Given the description of an element on the screen output the (x, y) to click on. 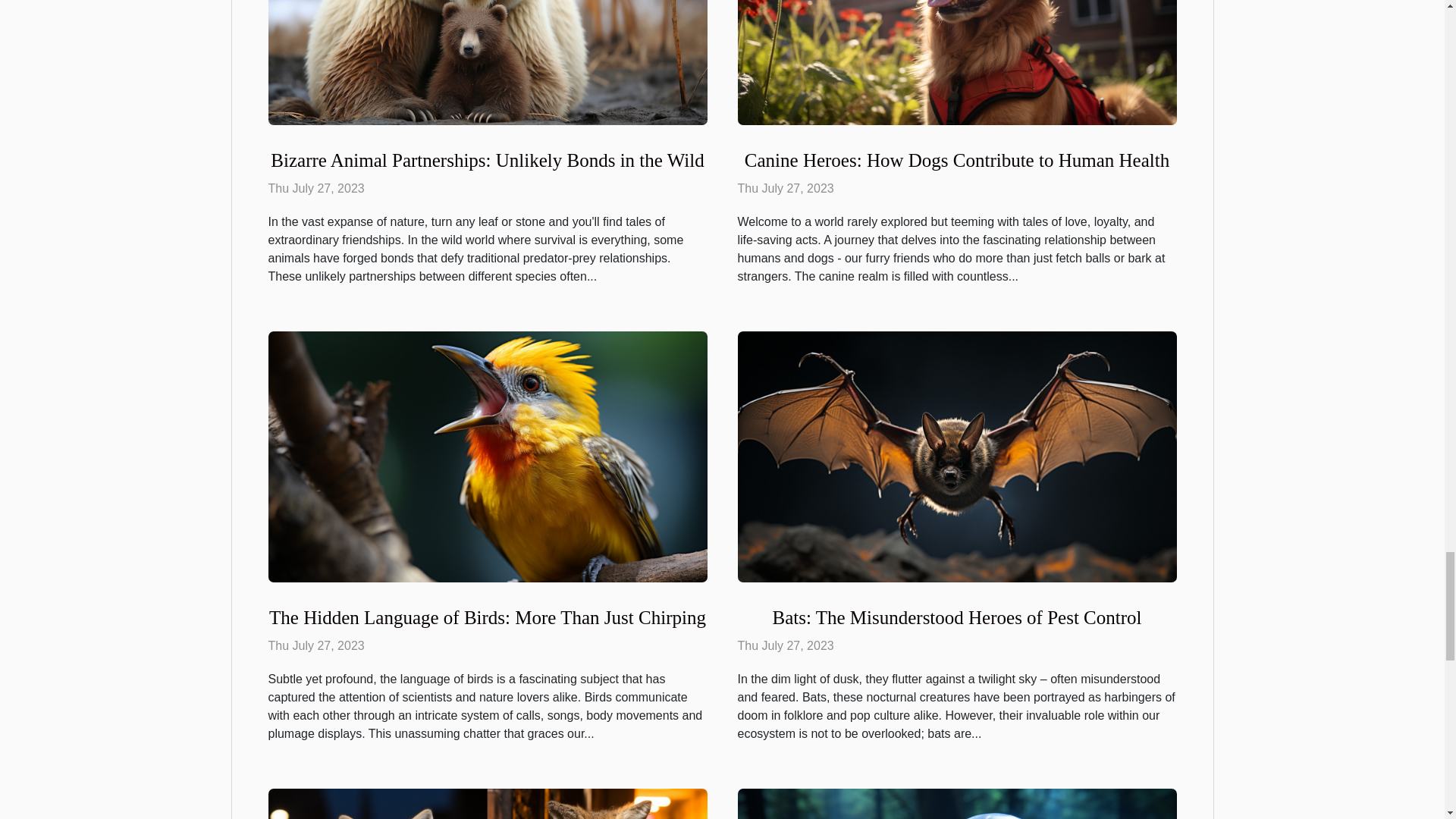
Bizarre Animal Partnerships: Unlikely Bonds in the Wild (486, 159)
